Given the description of an element on the screen output the (x, y) to click on. 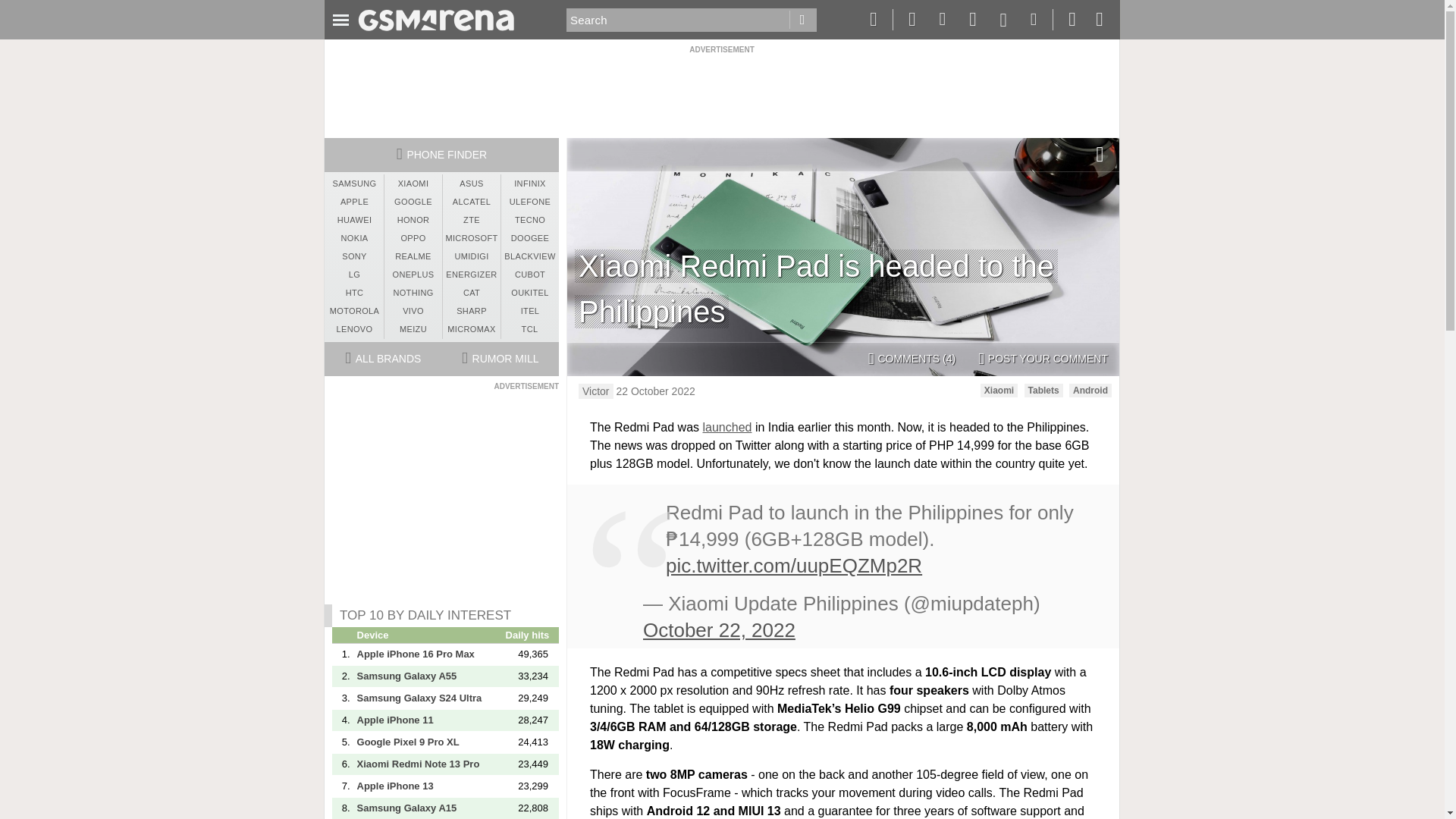
Tablets (1043, 390)
Xiaomi (998, 390)
POST YOUR COMMENT (1042, 359)
October 22, 2022 (718, 630)
Go (802, 19)
Go (802, 19)
Victor (595, 391)
Android (1090, 390)
launched (727, 427)
